Given the description of an element on the screen output the (x, y) to click on. 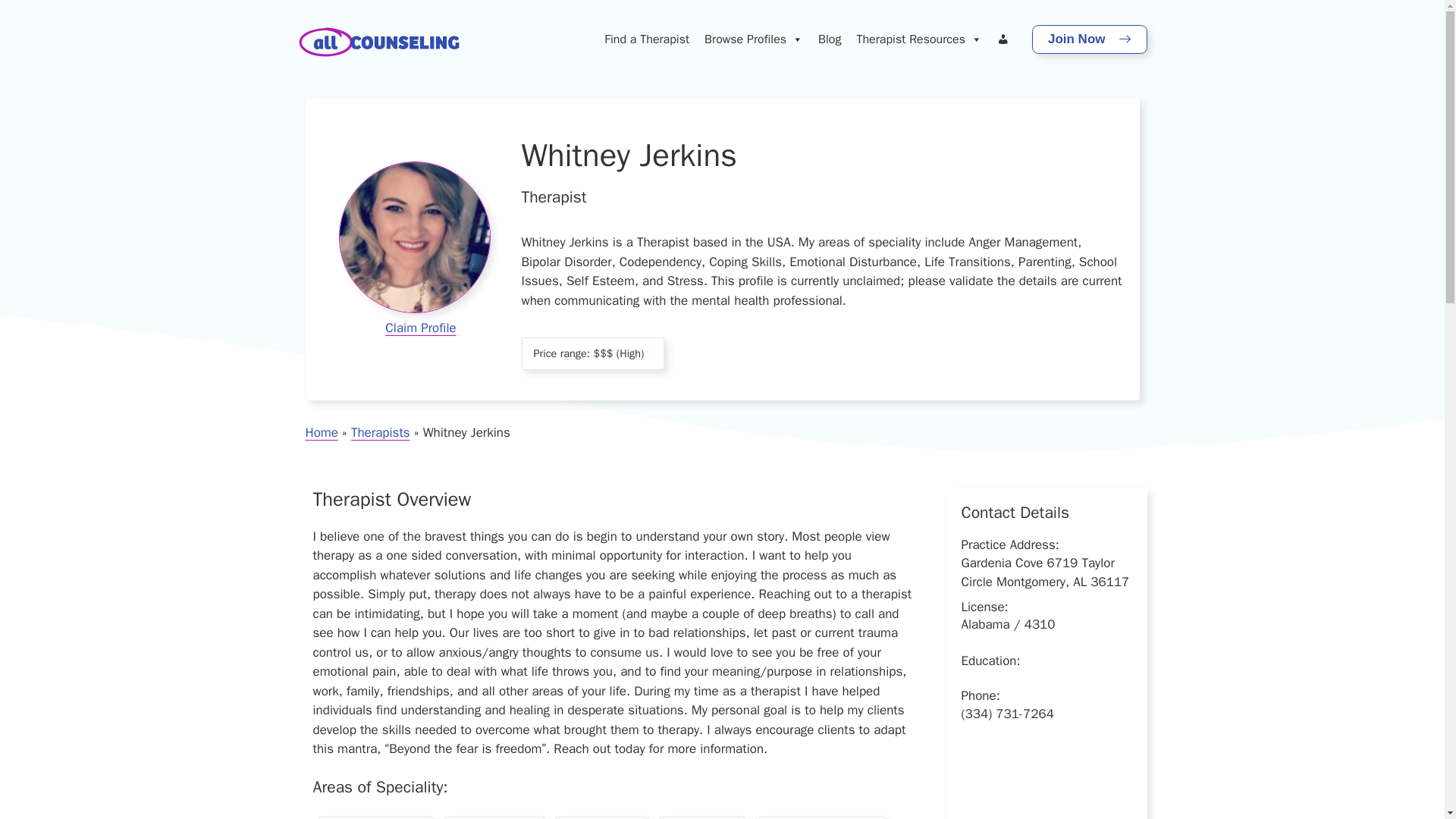
Browse Profiles (753, 39)
Therapist Resources (918, 39)
Find a Therapist (646, 39)
Whitney Jerkins (413, 236)
Join Now (1089, 39)
